Given the description of an element on the screen output the (x, y) to click on. 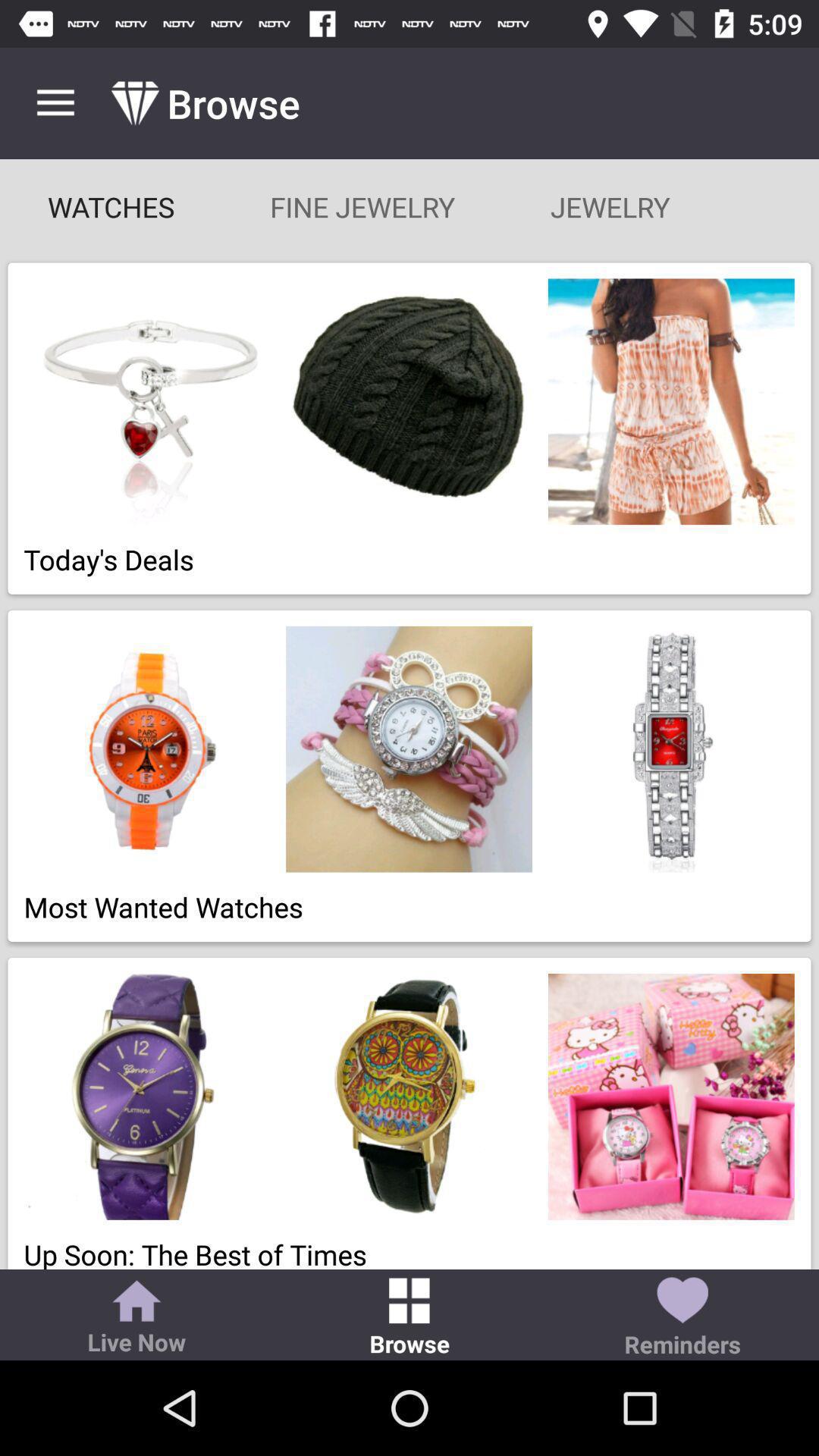
click fine jewelry app (362, 206)
